Given the description of an element on the screen output the (x, y) to click on. 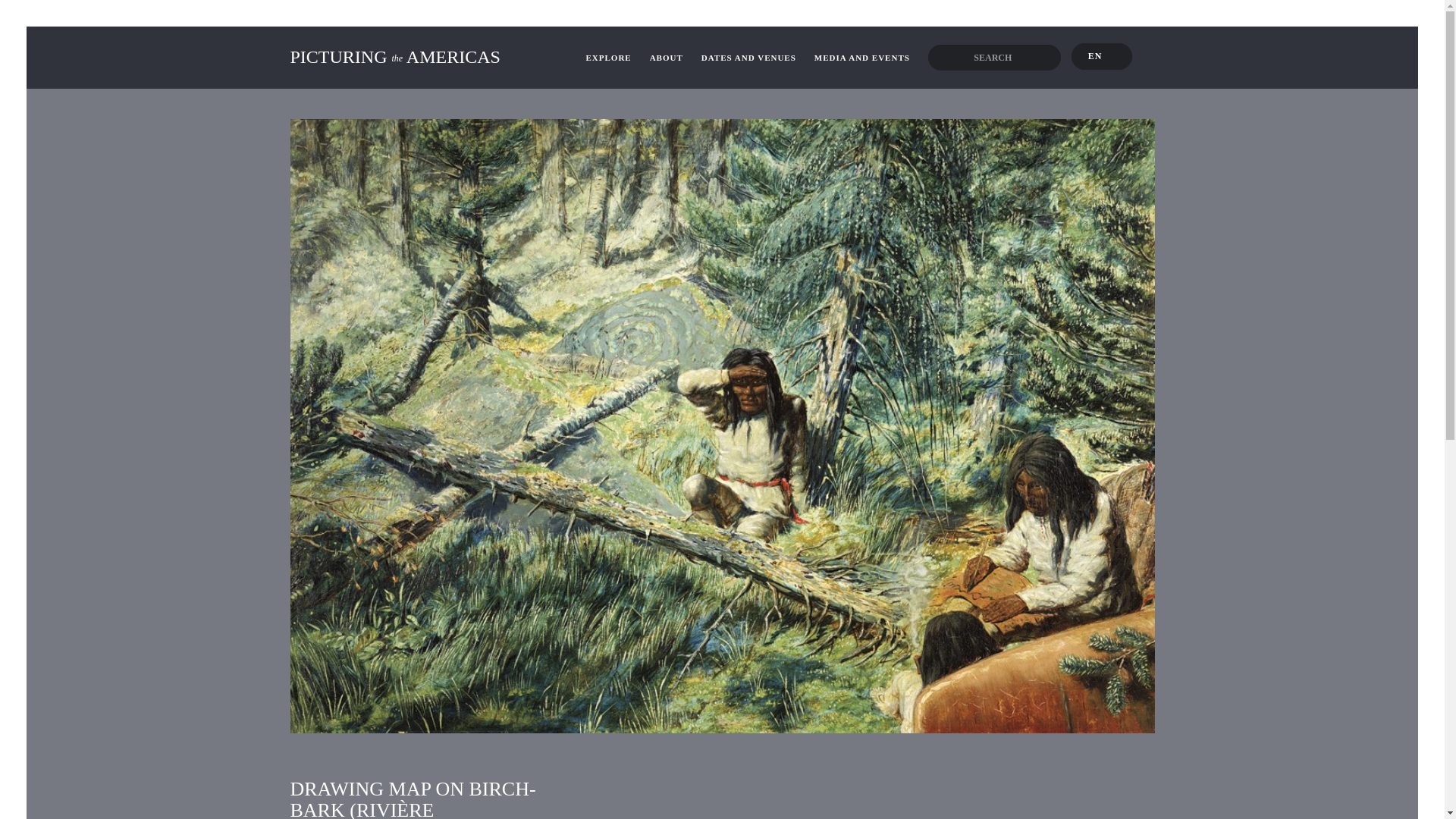
EN (1101, 56)
MEDIA AND EVENTS (861, 57)
DATES AND VENUES (748, 57)
PICTURING the AMERICAS (427, 57)
